Given the description of an element on the screen output the (x, y) to click on. 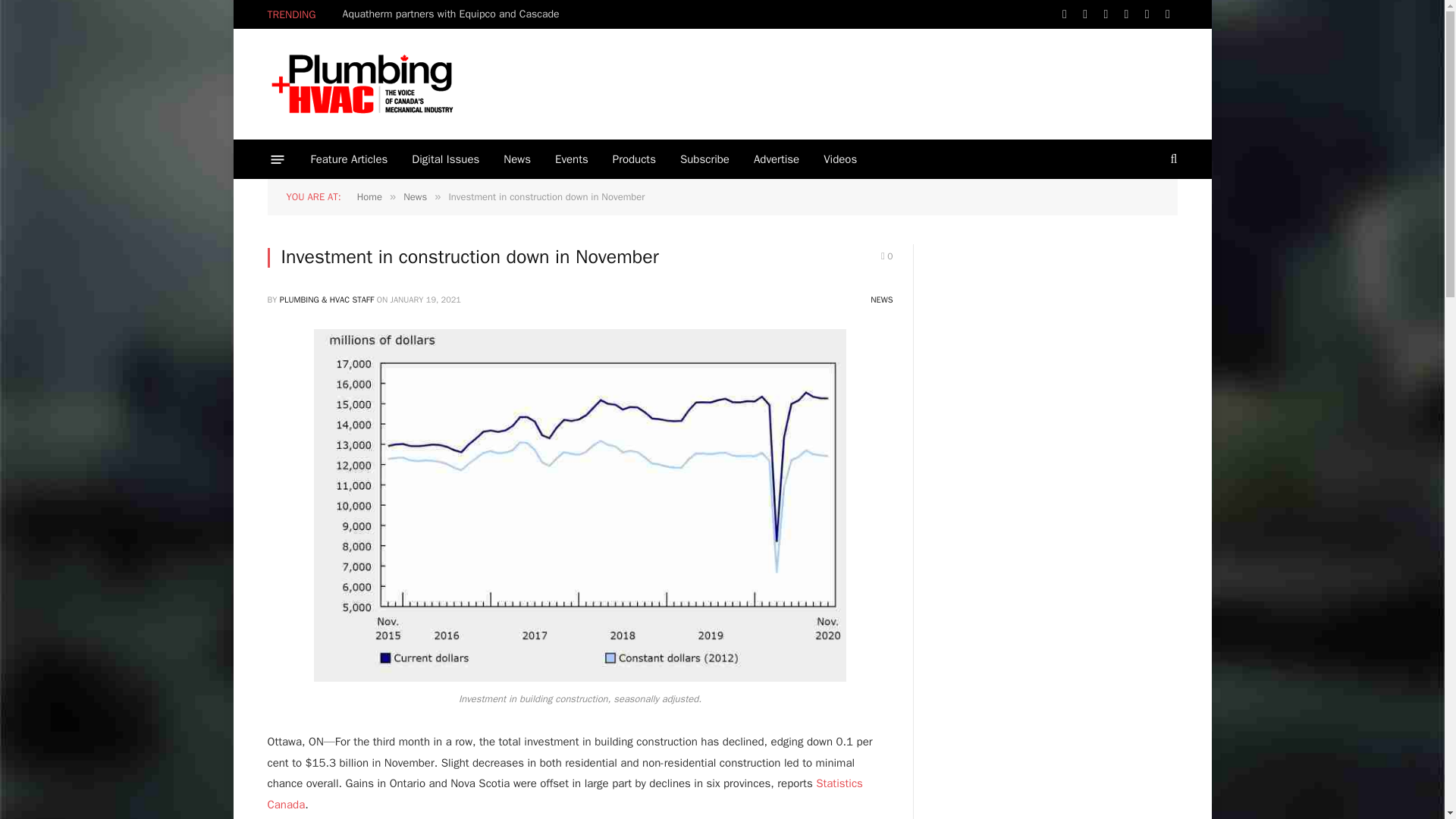
Events (571, 159)
Products (633, 159)
Advertise (775, 159)
Subscribe (704, 159)
Videos (839, 159)
Aquatherm partners with Equipco and Cascade (454, 14)
2021-01-19 (425, 299)
Feature Articles (349, 159)
News (517, 159)
Digital Issues (445, 159)
